Given the description of an element on the screen output the (x, y) to click on. 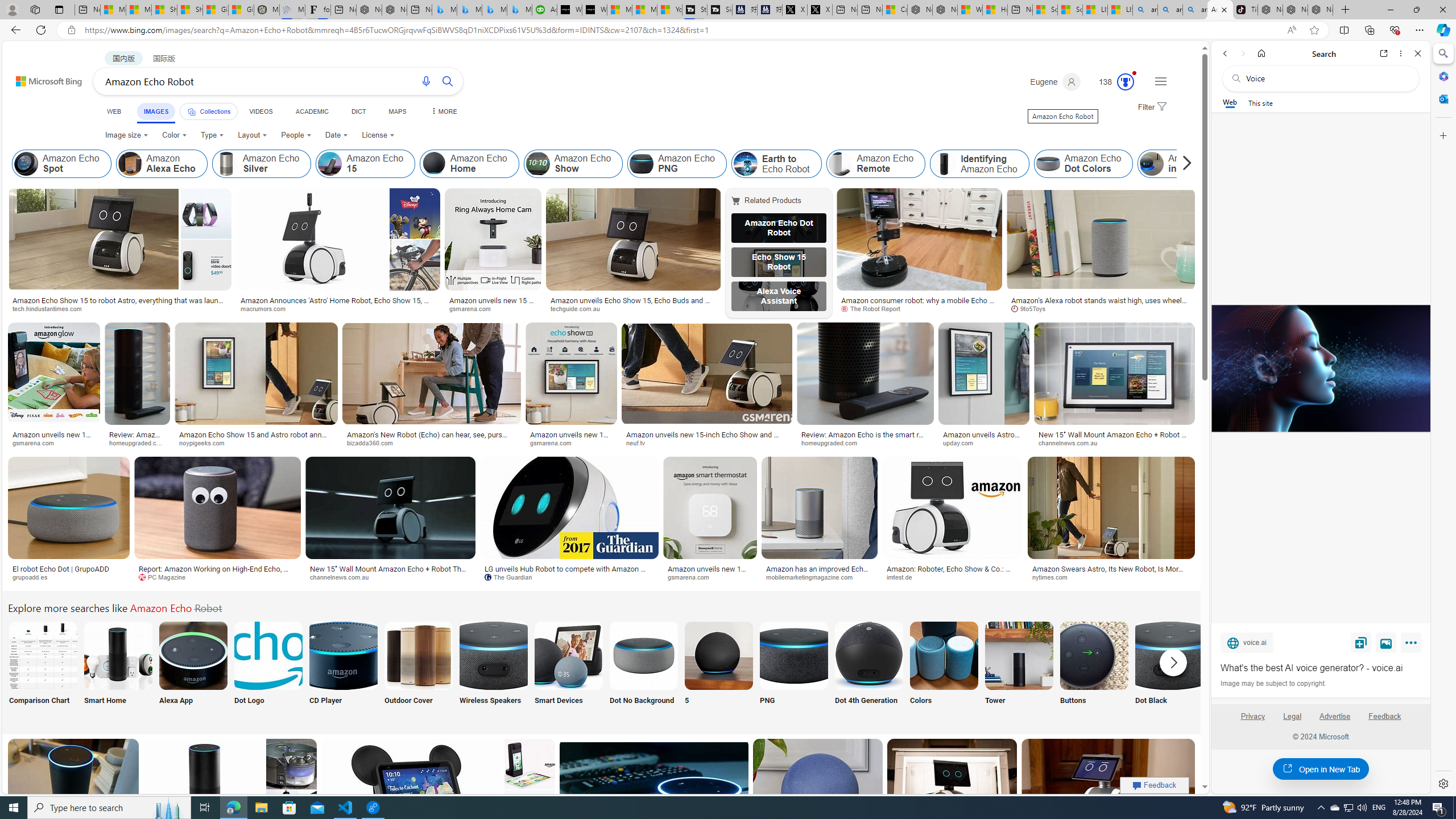
Amazon Echo PNG (794, 654)
Accounting Software for Accountants, CPAs and Bookkeepers (544, 9)
Advertise (1334, 720)
Amazon Echo Comparison Chart Comparison Chart (42, 669)
Amazon Echo Smart Devices (568, 654)
Amazon Echo Spot (25, 163)
Legal (1292, 720)
Streaming Coverage | T3 (694, 9)
